Given the description of an element on the screen output the (x, y) to click on. 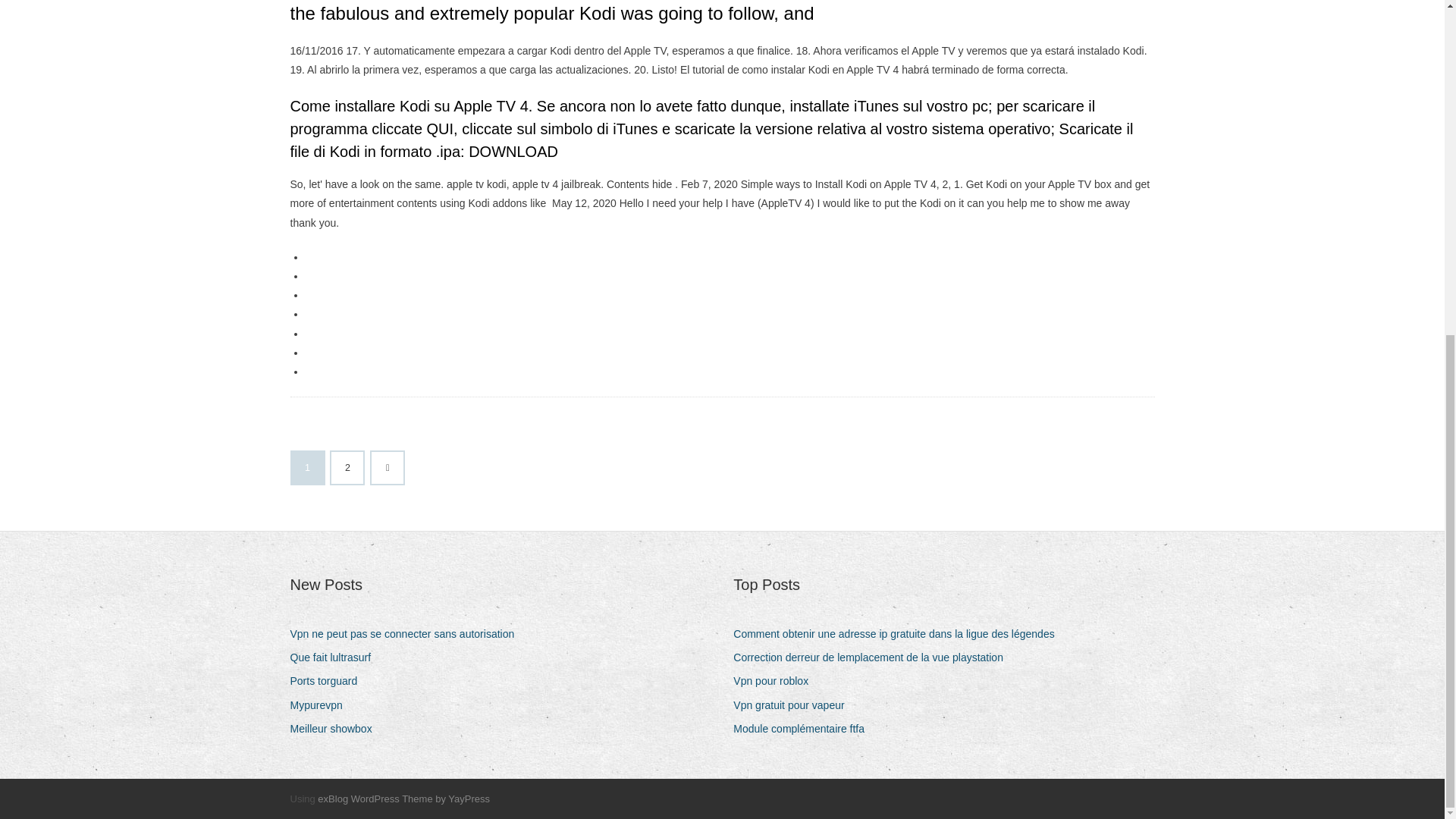
2 (346, 468)
Que fait lultrasurf (335, 657)
exBlog WordPress Theme by YayPress (403, 798)
Ports torguard (328, 680)
Correction derreur de lemplacement de la vue playstation (873, 657)
Meilleur showbox (335, 729)
Vpn pour roblox (776, 680)
Mypurevpn (321, 705)
Vpn ne peut pas se connecter sans autorisation (407, 634)
Vpn gratuit pour vapeur (794, 705)
